Given the description of an element on the screen output the (x, y) to click on. 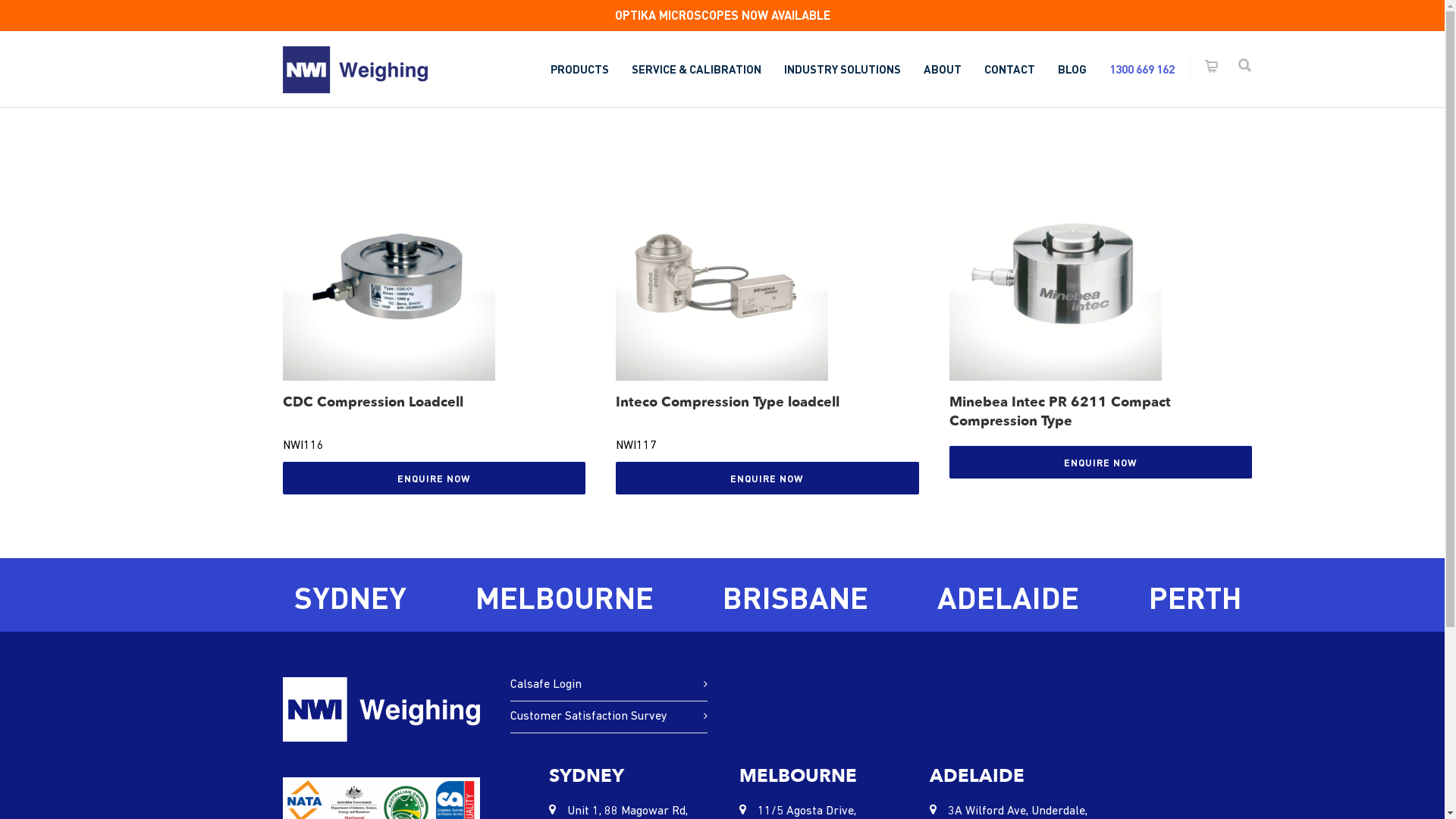
Minebea Intec PR 6211 Compact Compression Type Element type: text (1100, 303)
Inteco Compression Type loadcell
NWI117 Element type: text (767, 311)
ABOUT Element type: text (941, 68)
ENQUIRE NOW Element type: text (767, 477)
OPTIKA MICROSCOPES NOW AVAILABLE Element type: text (721, 14)
CONTACT Element type: text (1008, 68)
1300 669 162 Element type: text (1142, 68)
ENQUIRE NOW Element type: text (433, 477)
SERVICE & CALIBRATION Element type: text (696, 68)
CDC Compression Loadcell
NWI116 Element type: text (433, 311)
Calsafe Login Element type: text (604, 685)
Customer Satisfaction Survey Element type: text (604, 716)
ENQUIRE NOW Element type: text (1100, 461)
PRODUCTS Element type: text (578, 68)
INDUSTRY SOLUTIONS Element type: text (841, 68)
BLOG Element type: text (1072, 68)
